Given the description of an element on the screen output the (x, y) to click on. 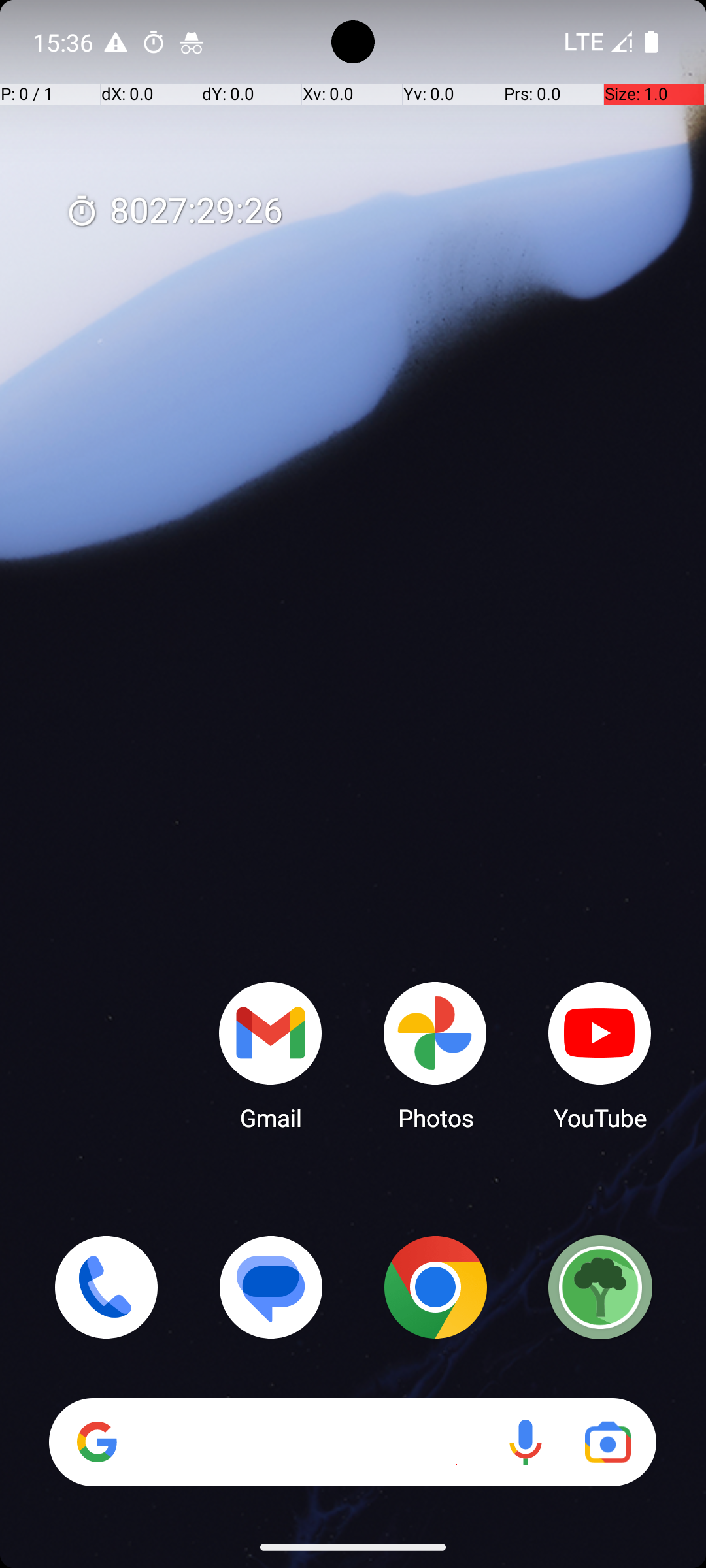
8027:29:26 Element type: android.widget.TextView (173, 210)
15:36 Element type: android.widget.TextView (64, 41)
